Given the description of an element on the screen output the (x, y) to click on. 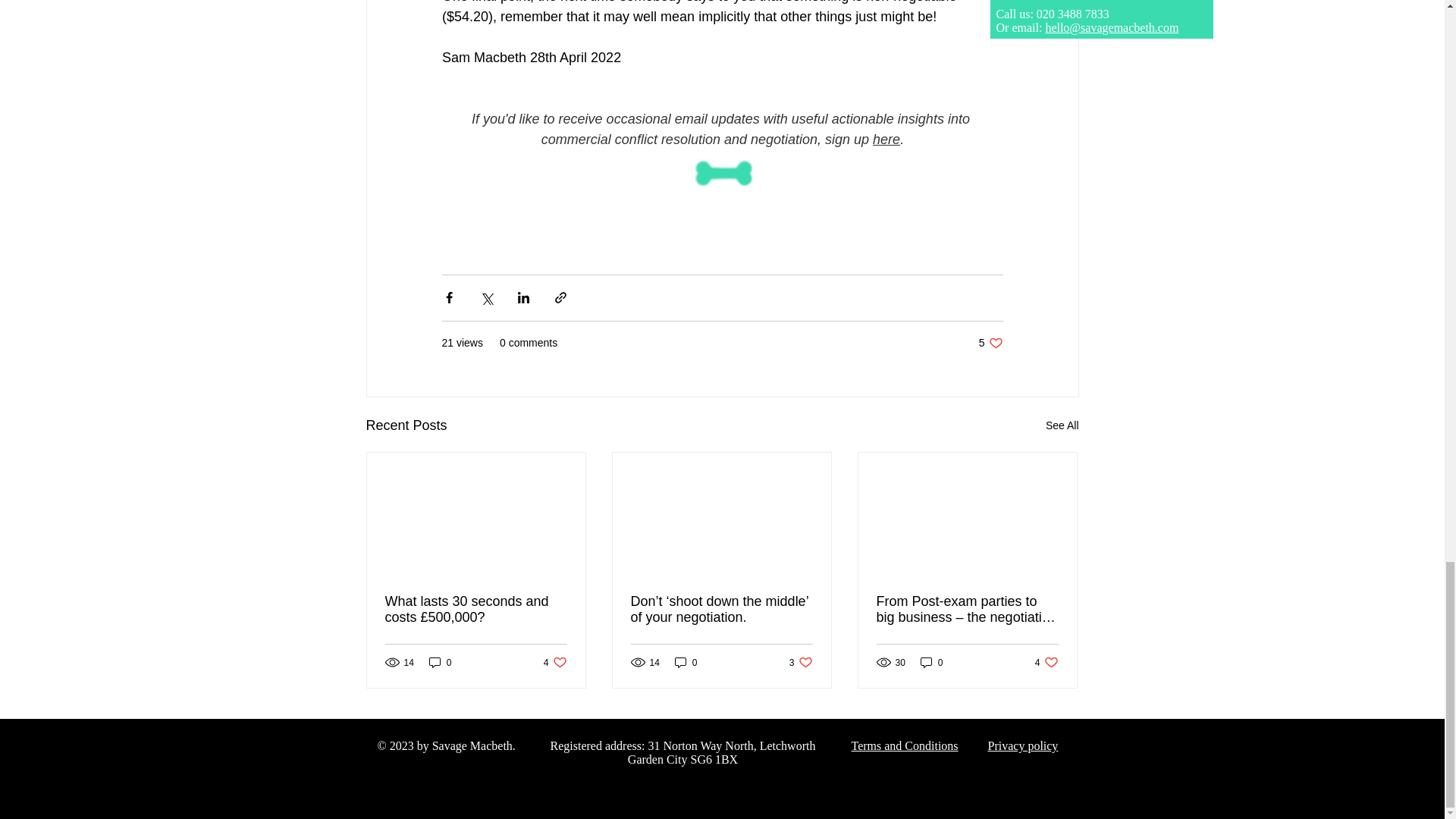
See All (1061, 425)
here (885, 139)
0 (685, 662)
0 (1046, 662)
0 (931, 662)
